Given the description of an element on the screen output the (x, y) to click on. 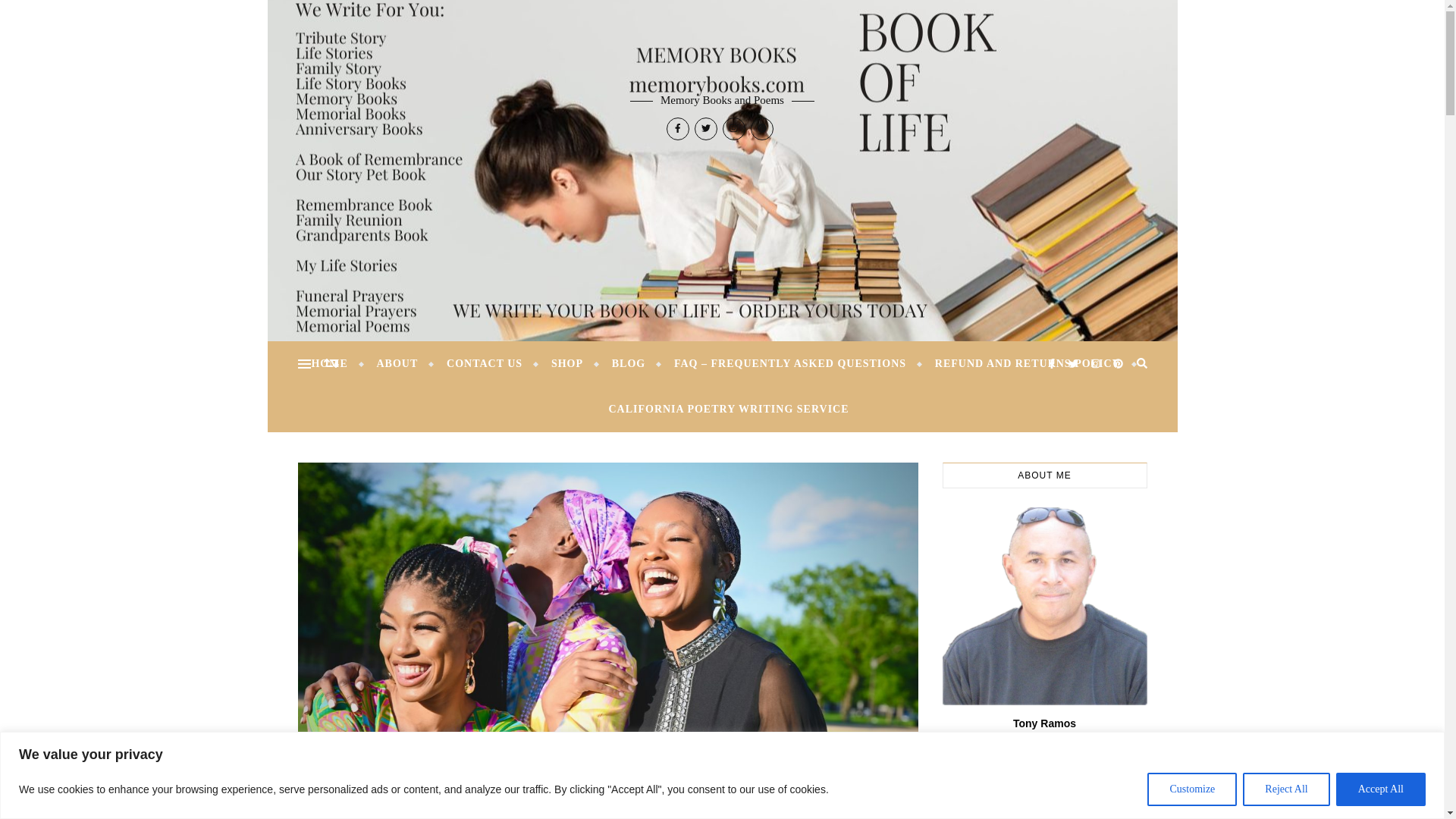
ABOUT (396, 363)
HOME (335, 363)
SHOP (566, 363)
CONTACT US (484, 363)
Reject All (1286, 788)
Customize (1191, 788)
Accept All (1380, 788)
BLOG (628, 363)
